Given the description of an element on the screen output the (x, y) to click on. 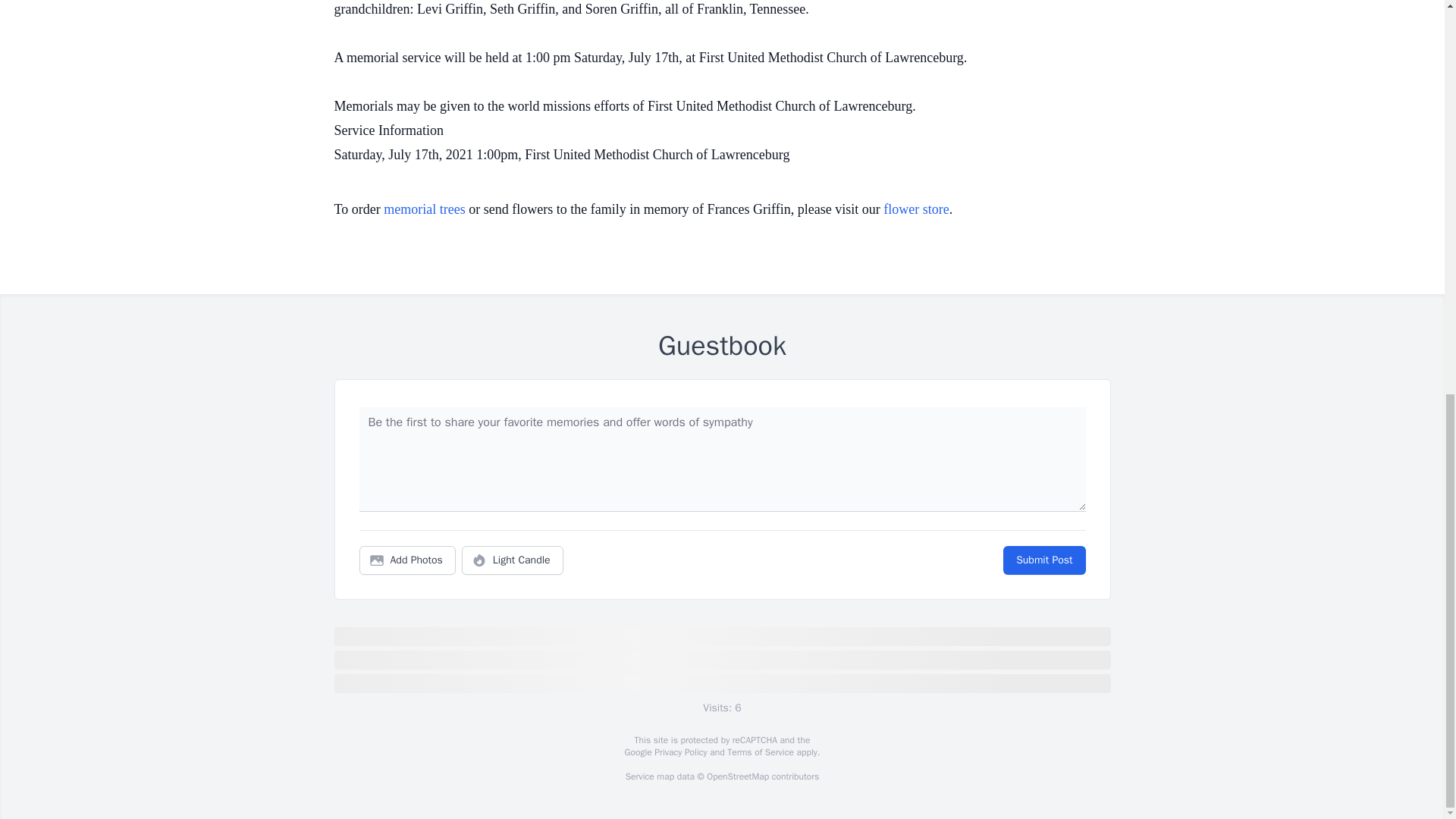
Submit Post (1043, 560)
OpenStreetMap (737, 776)
memorial trees (424, 209)
Privacy Policy (679, 752)
flower store (916, 209)
Terms of Service (759, 752)
Add Photos (407, 560)
Light Candle (512, 560)
